Given the description of an element on the screen output the (x, y) to click on. 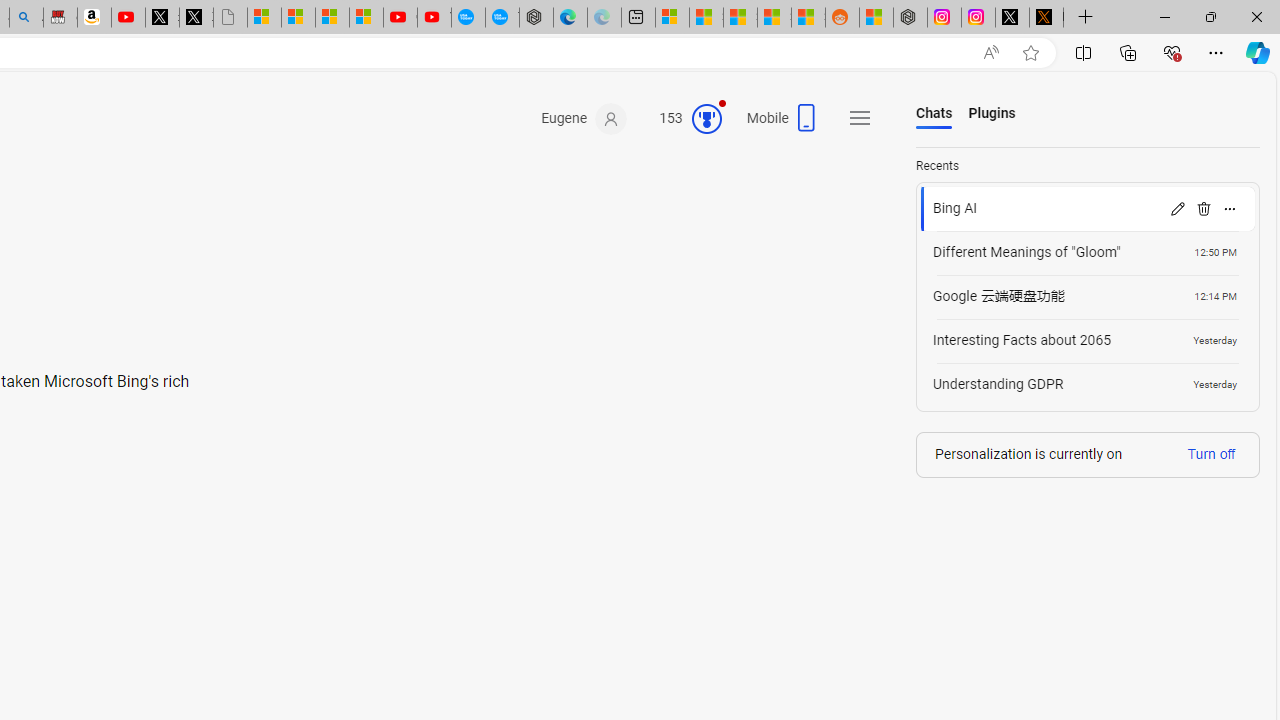
Shanghai, China Weather trends | Microsoft Weather (808, 17)
Amazon Echo Dot PNG - Search Images (26, 17)
Load chat (1087, 384)
Rename (1177, 208)
Microsoft Rewards 153 (682, 119)
Settings and quick links (859, 117)
Turn off (1211, 453)
Class: medal-circled (706, 118)
